Given the description of an element on the screen output the (x, y) to click on. 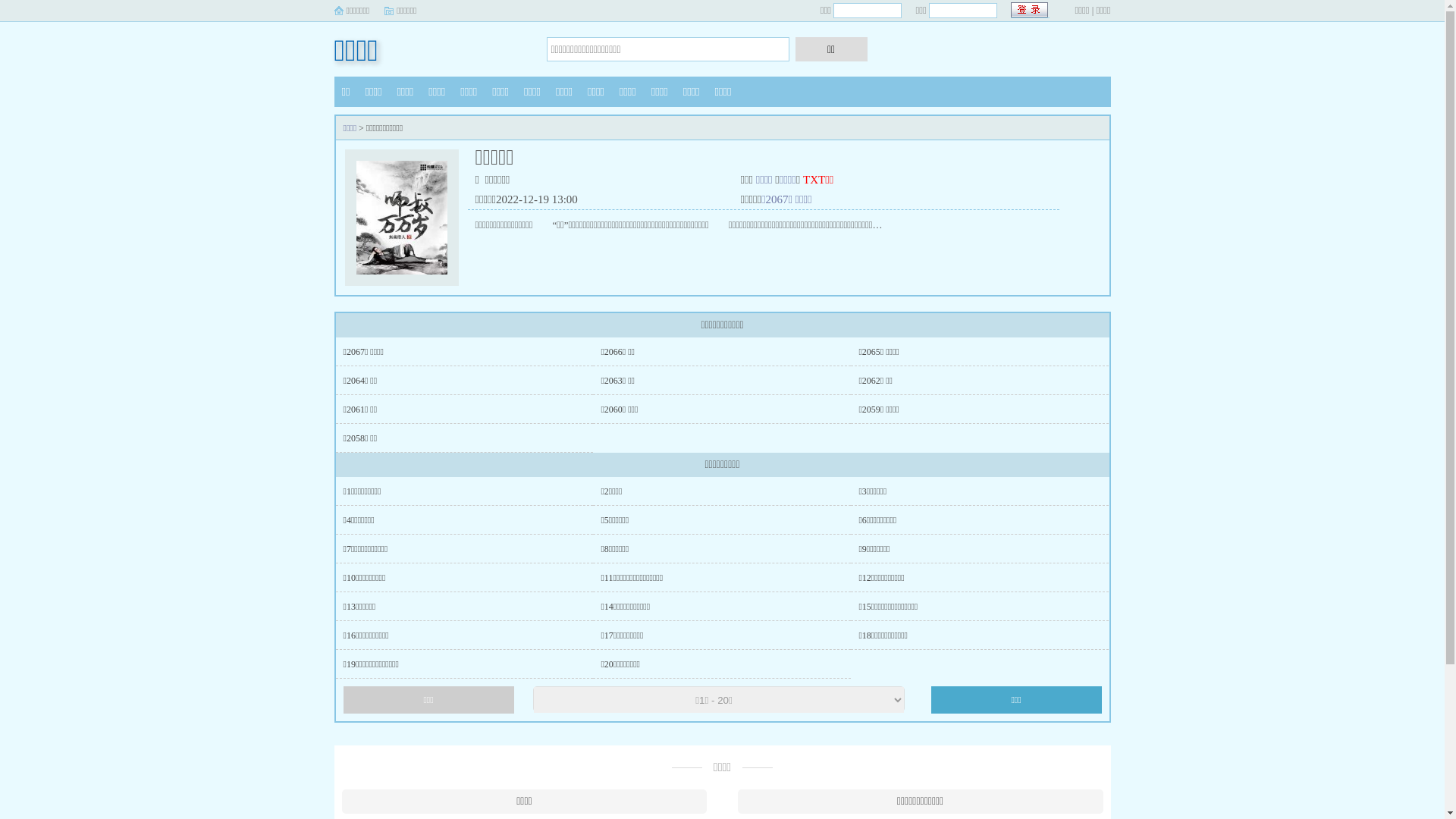
  Element type: text (1029, 10)
